Given the description of an element on the screen output the (x, y) to click on. 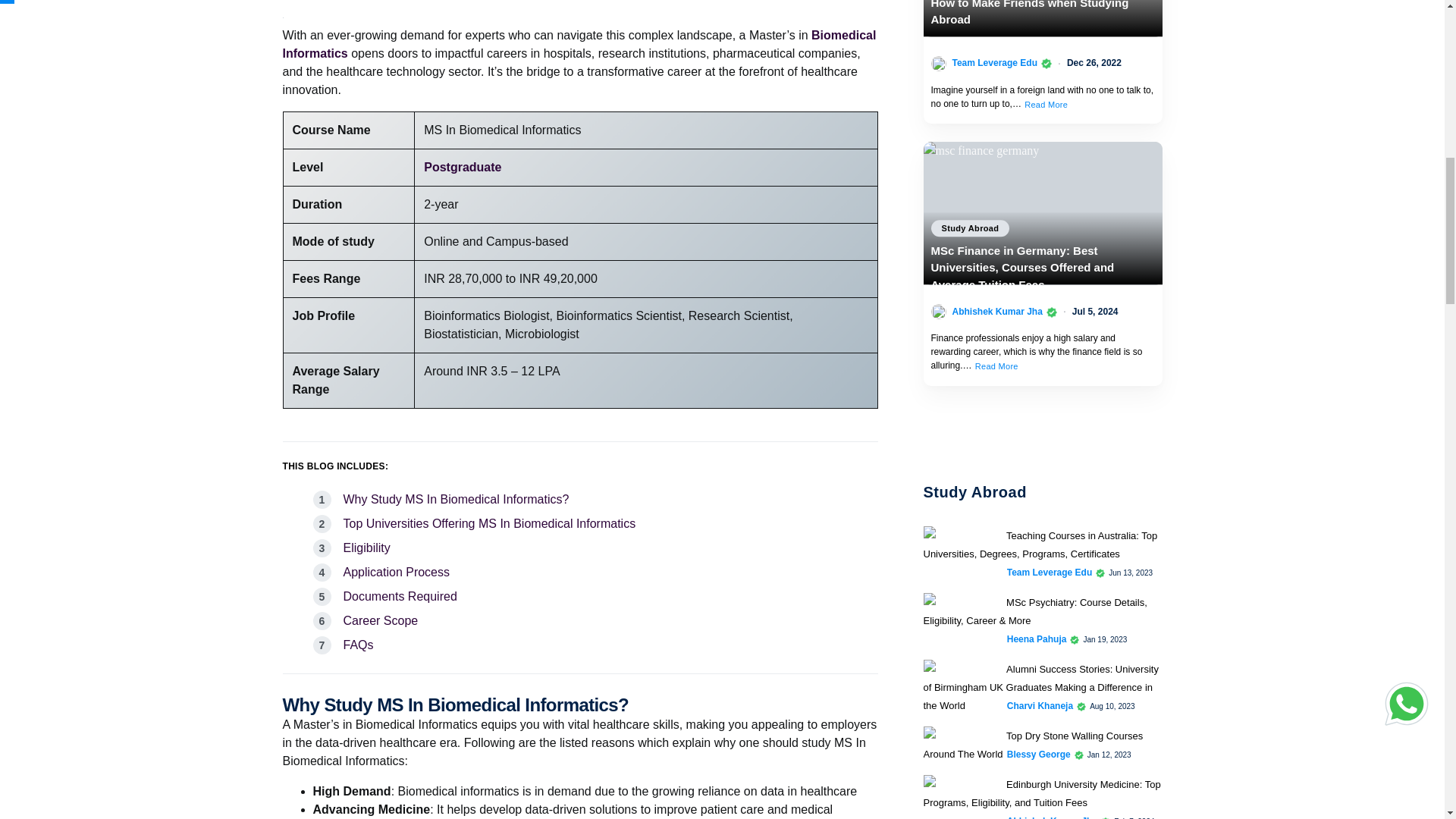
View all posts by Abhishek Kumar Jha (1052, 816)
View all posts by Charvi Khaneja (1040, 705)
View all posts by Abhishek Kumar Jha (997, 311)
View all posts by Team Leverage Edu (995, 62)
View all posts by Team Leverage Edu (1050, 572)
View all posts by Blessy George (1038, 754)
View all posts by Heena Pahuja (1037, 639)
